Given the description of an element on the screen output the (x, y) to click on. 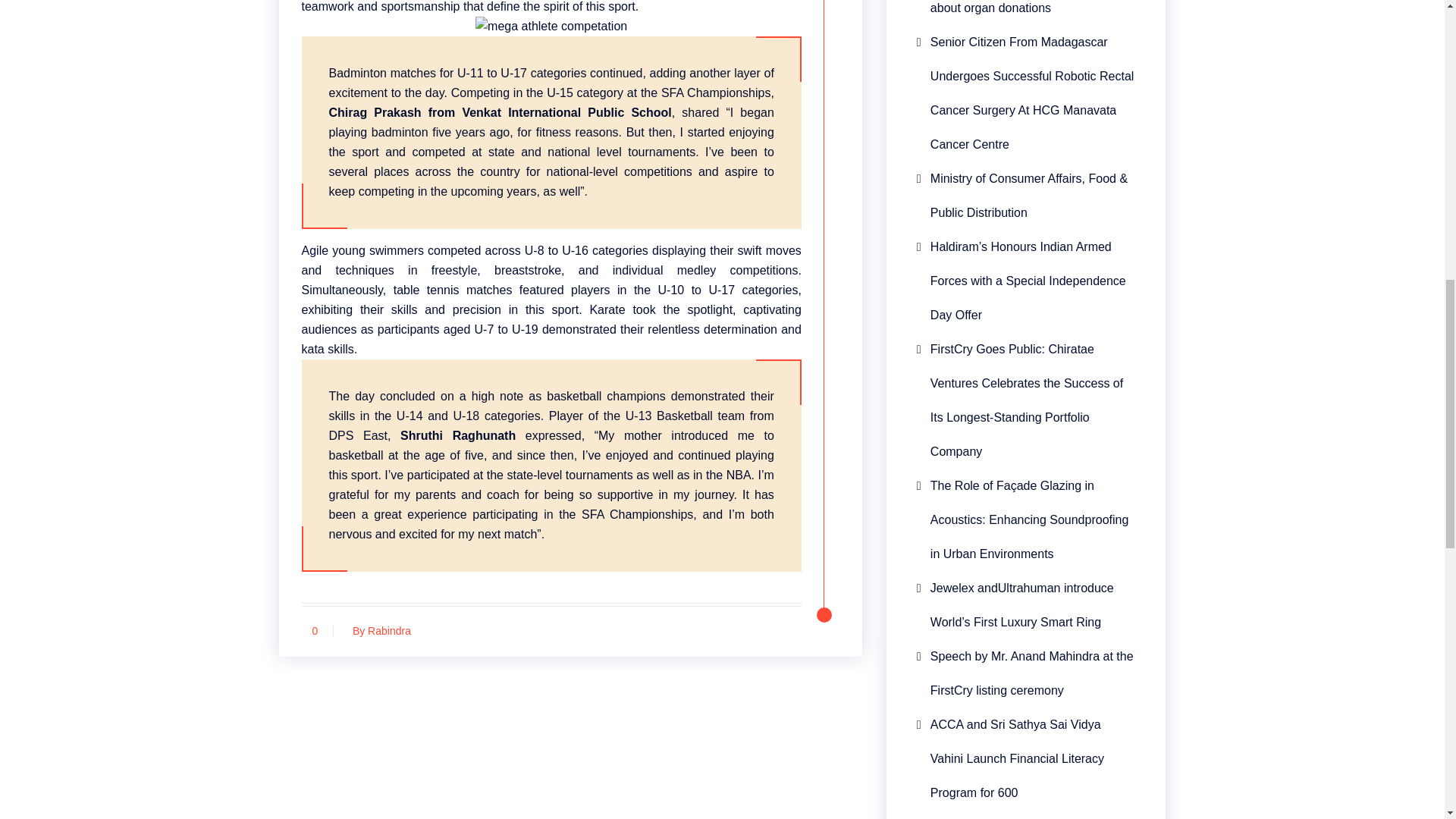
By Rabindra (377, 630)
0 (315, 630)
